Given the description of an element on the screen output the (x, y) to click on. 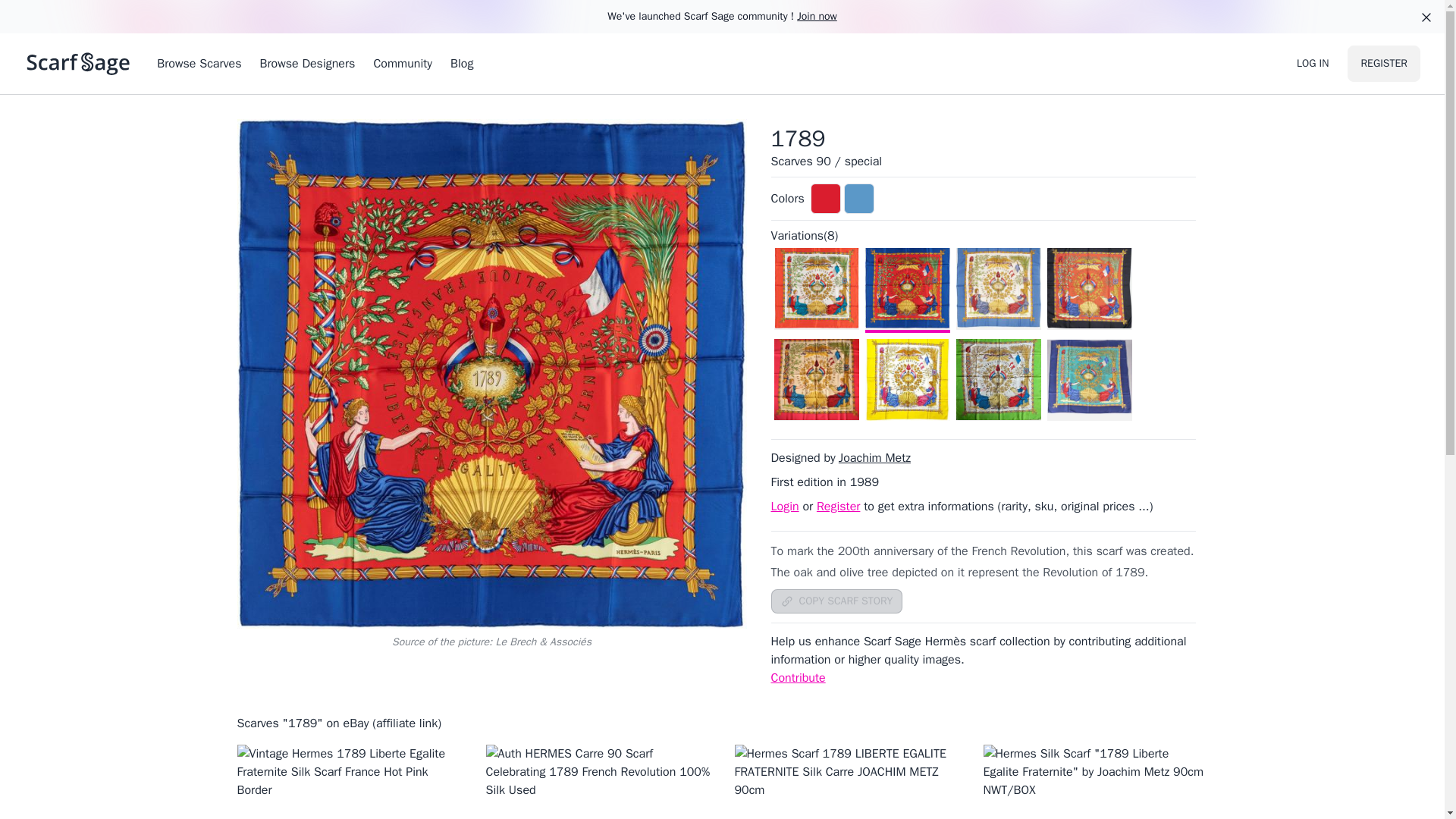
Blog (461, 63)
Community (402, 63)
Browse Designers (307, 63)
red (825, 198)
LOG IN (1313, 63)
1789 (797, 138)
Register (838, 506)
Join now (816, 15)
Joachim Metz (874, 457)
blue (859, 198)
REGISTER (1384, 63)
Browse Scarves (199, 63)
Login (783, 506)
Dismiss (1425, 17)
